Given the description of an element on the screen output the (x, y) to click on. 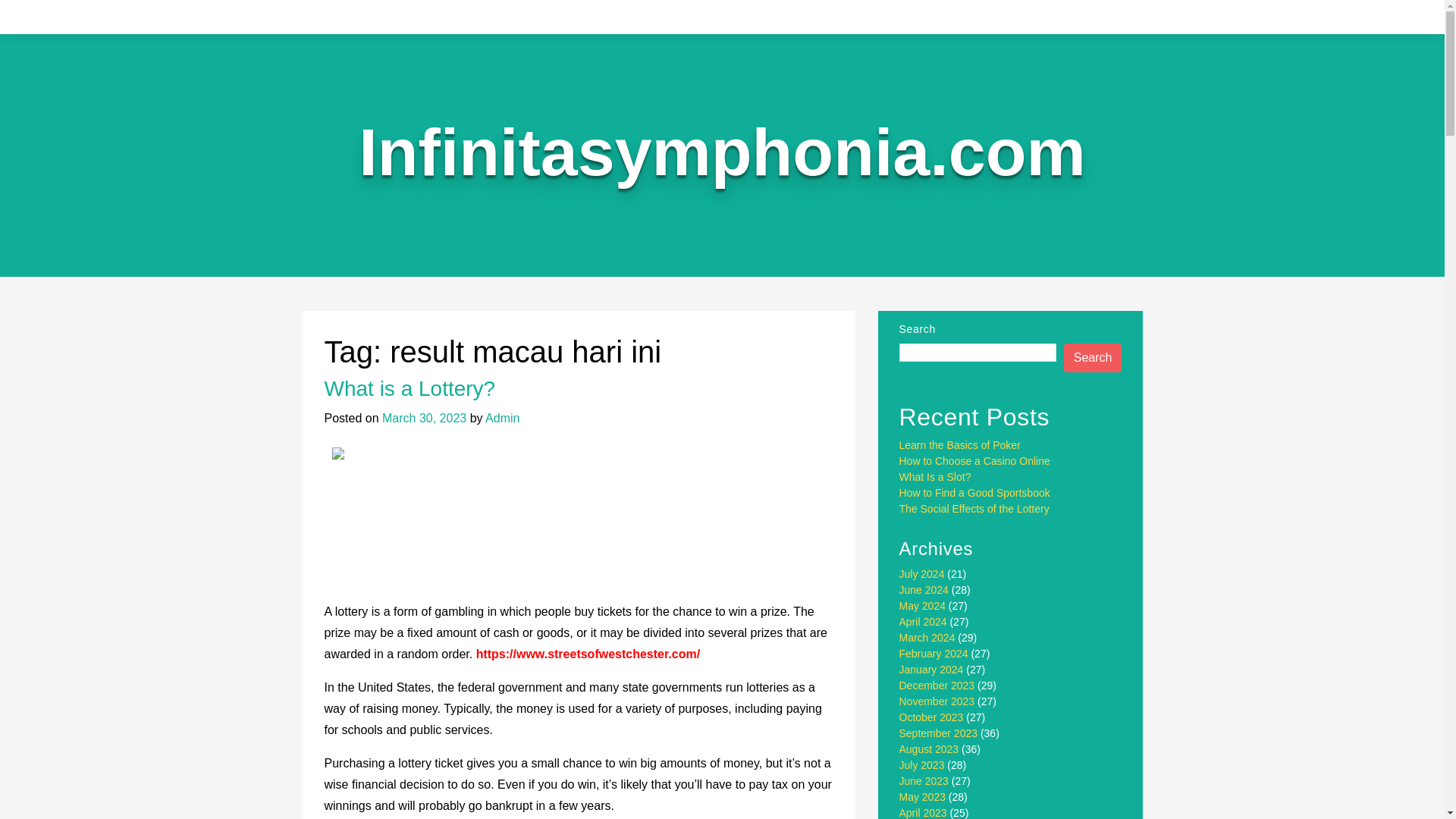
What is a Lottery? (410, 388)
March 30, 2023 (423, 418)
Admin (501, 418)
